Given the description of an element on the screen output the (x, y) to click on. 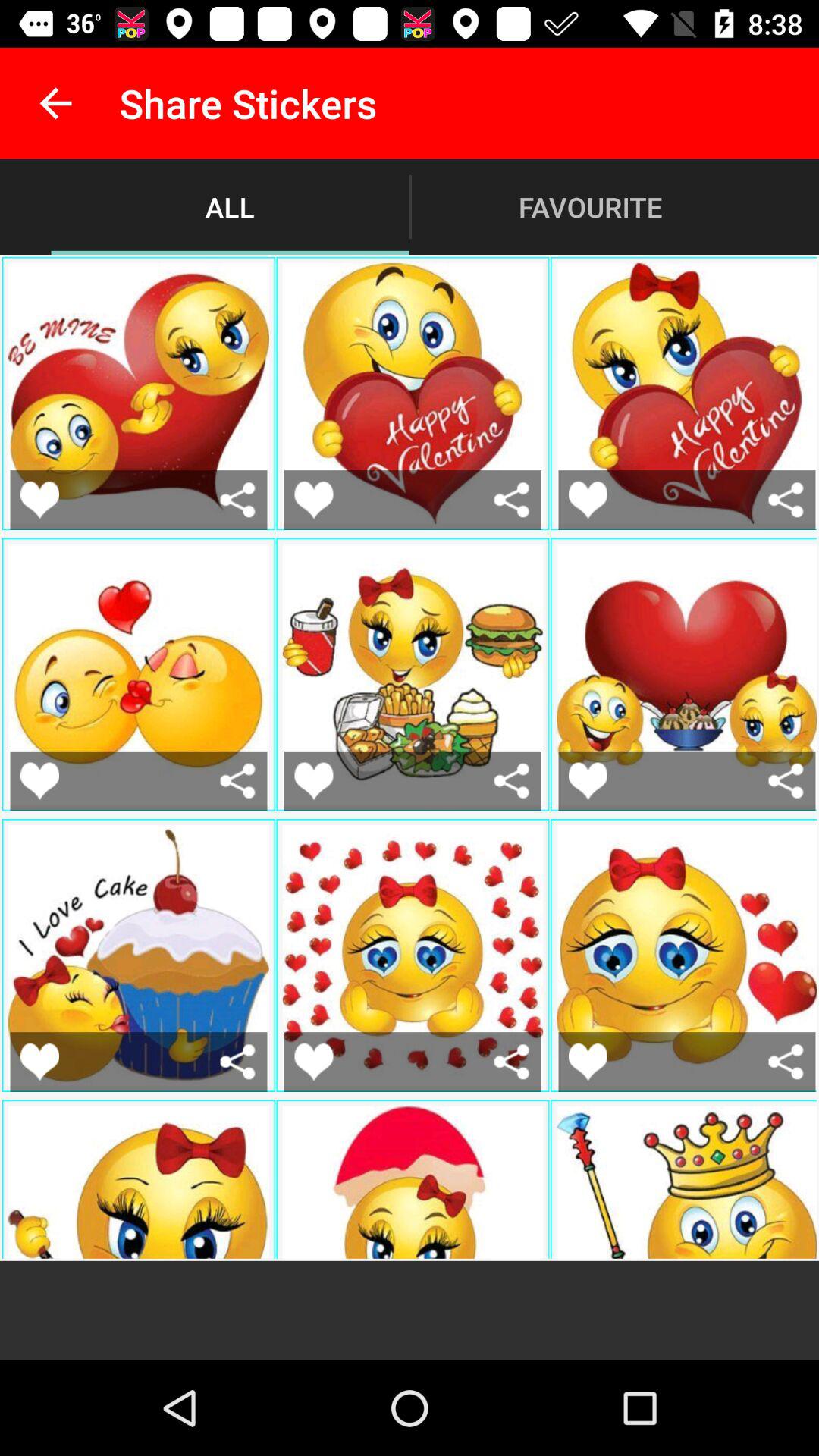
share (785, 499)
